Given the description of an element on the screen output the (x, y) to click on. 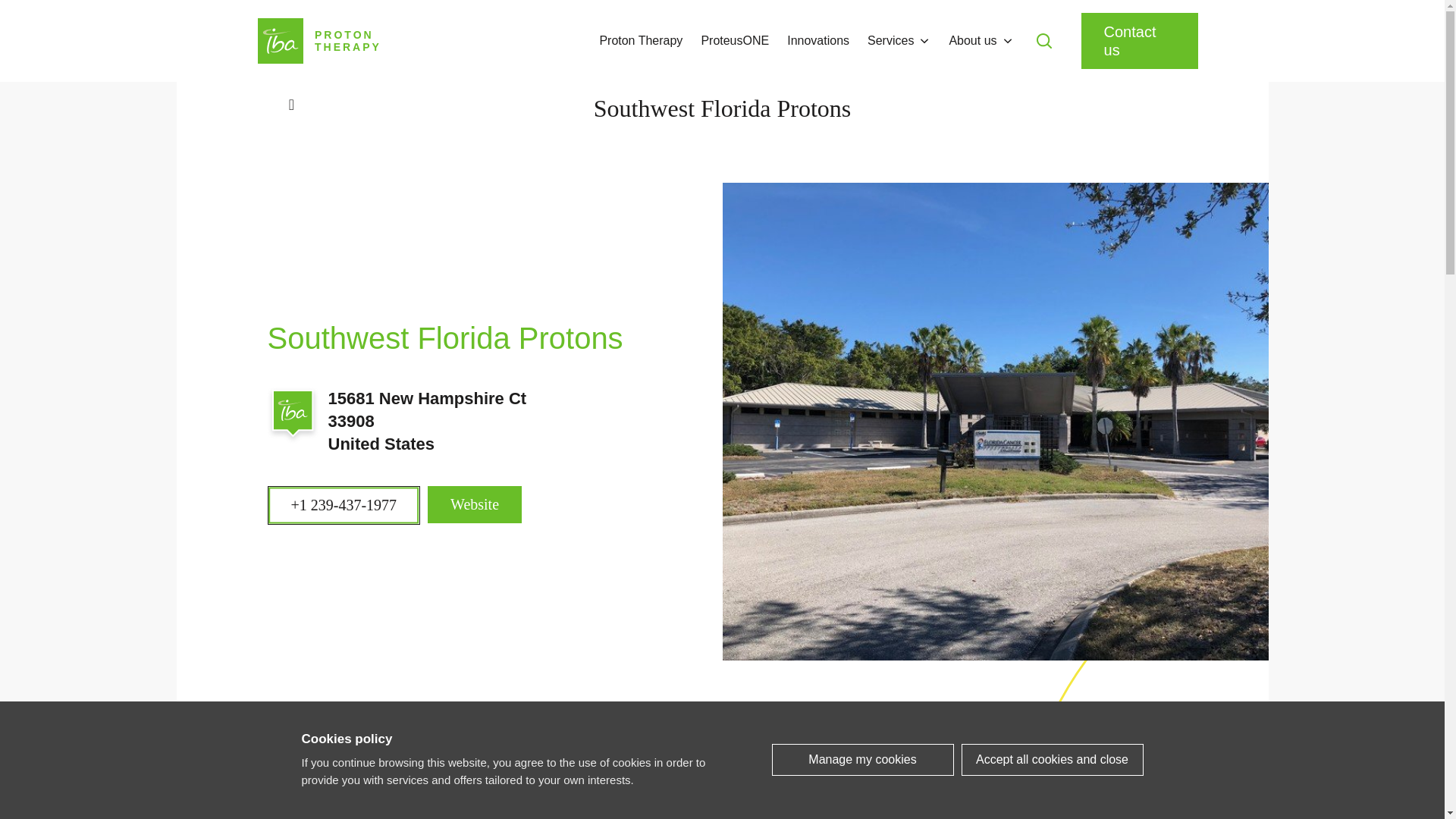
Proton Therapy (640, 40)
Contact us (1139, 40)
Services (890, 40)
Website (474, 503)
ProteusONE (734, 40)
About us (972, 40)
Innovations (318, 40)
